Given the description of an element on the screen output the (x, y) to click on. 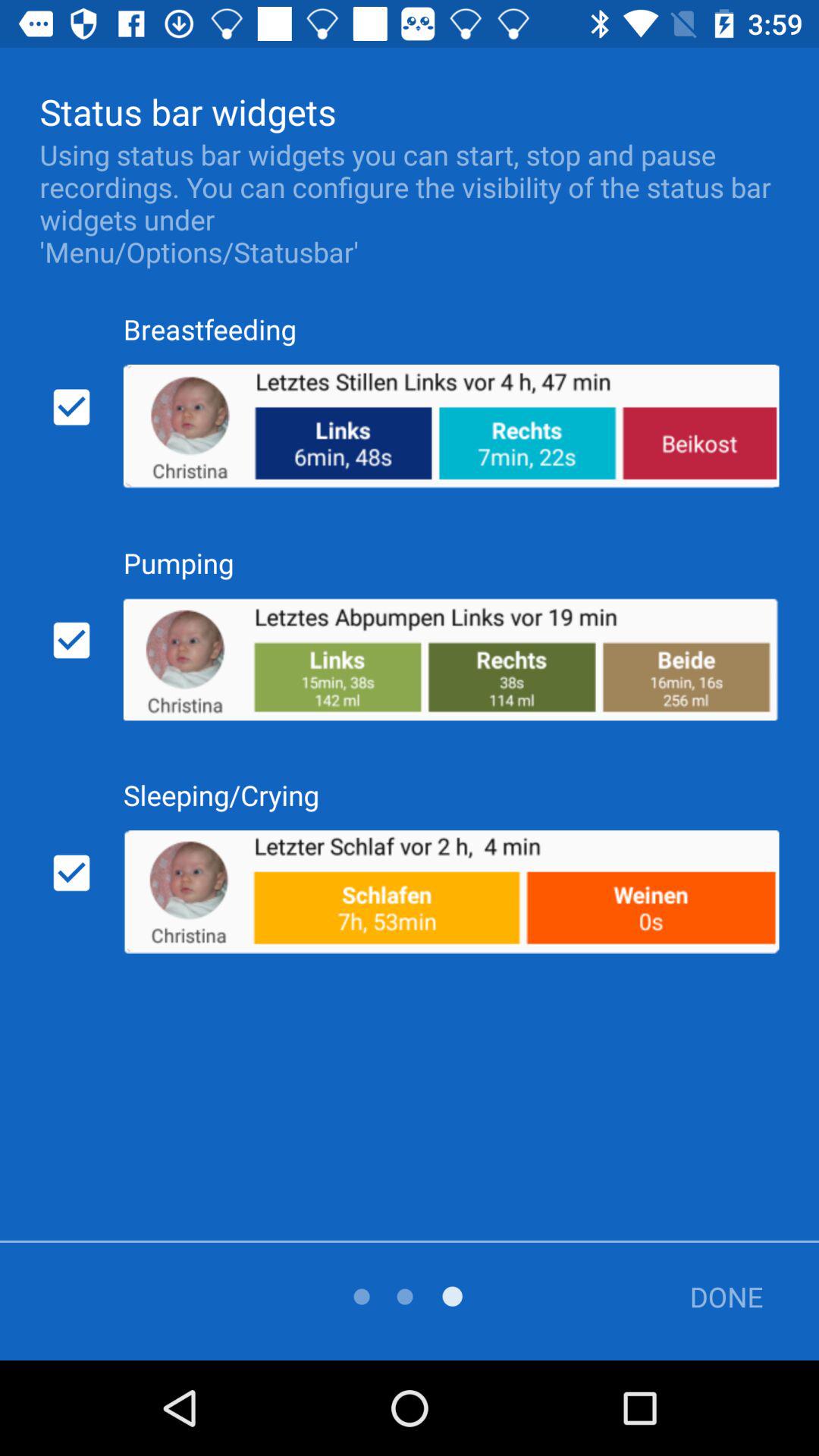
mark this checkbox (71, 872)
